Given the description of an element on the screen output the (x, y) to click on. 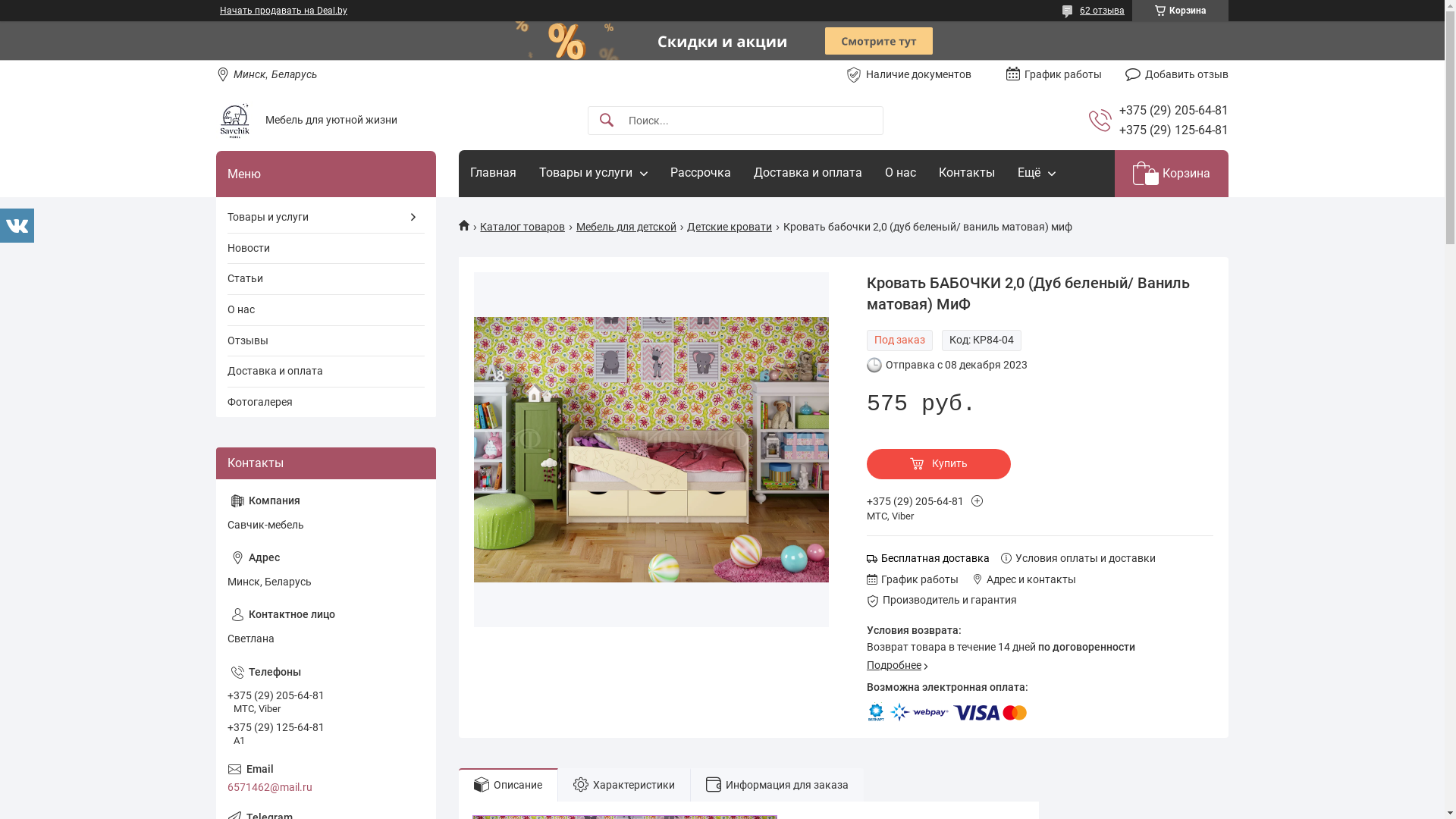
6571462@mail.ru Element type: text (325, 778)
